Given the description of an element on the screen output the (x, y) to click on. 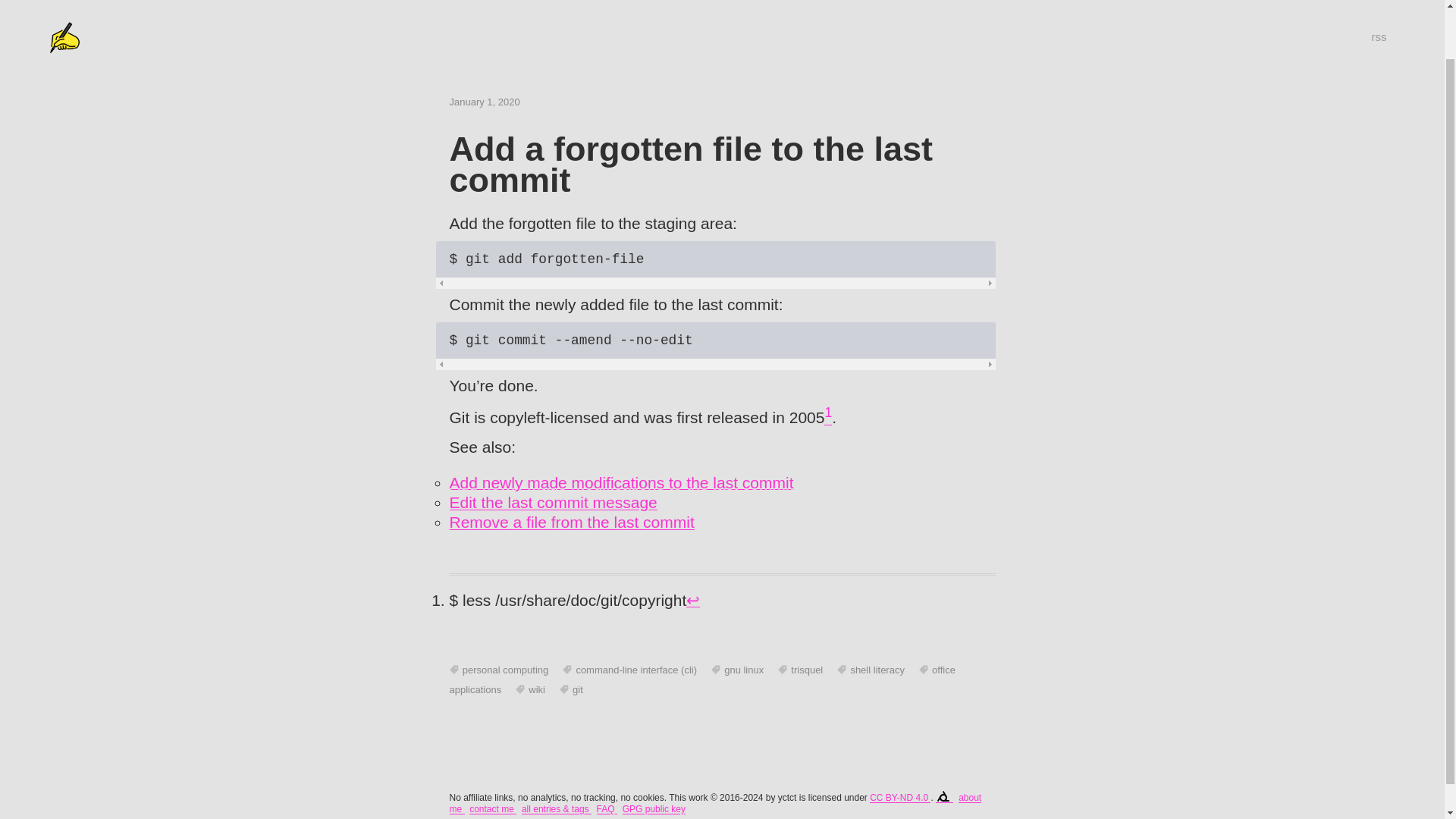
trisquel (799, 669)
1 (827, 416)
January 1, 2020 (483, 101)
about me (714, 803)
Remove a file from the last commit (571, 521)
contact me (492, 808)
CC BY-ND 4.0 (899, 797)
FAQ (606, 808)
Edit the last commit message (552, 502)
personal computing (498, 669)
office applications (701, 679)
rss (1378, 3)
git (571, 689)
wiki (529, 689)
GPG public key (654, 808)
